Given the description of an element on the screen output the (x, y) to click on. 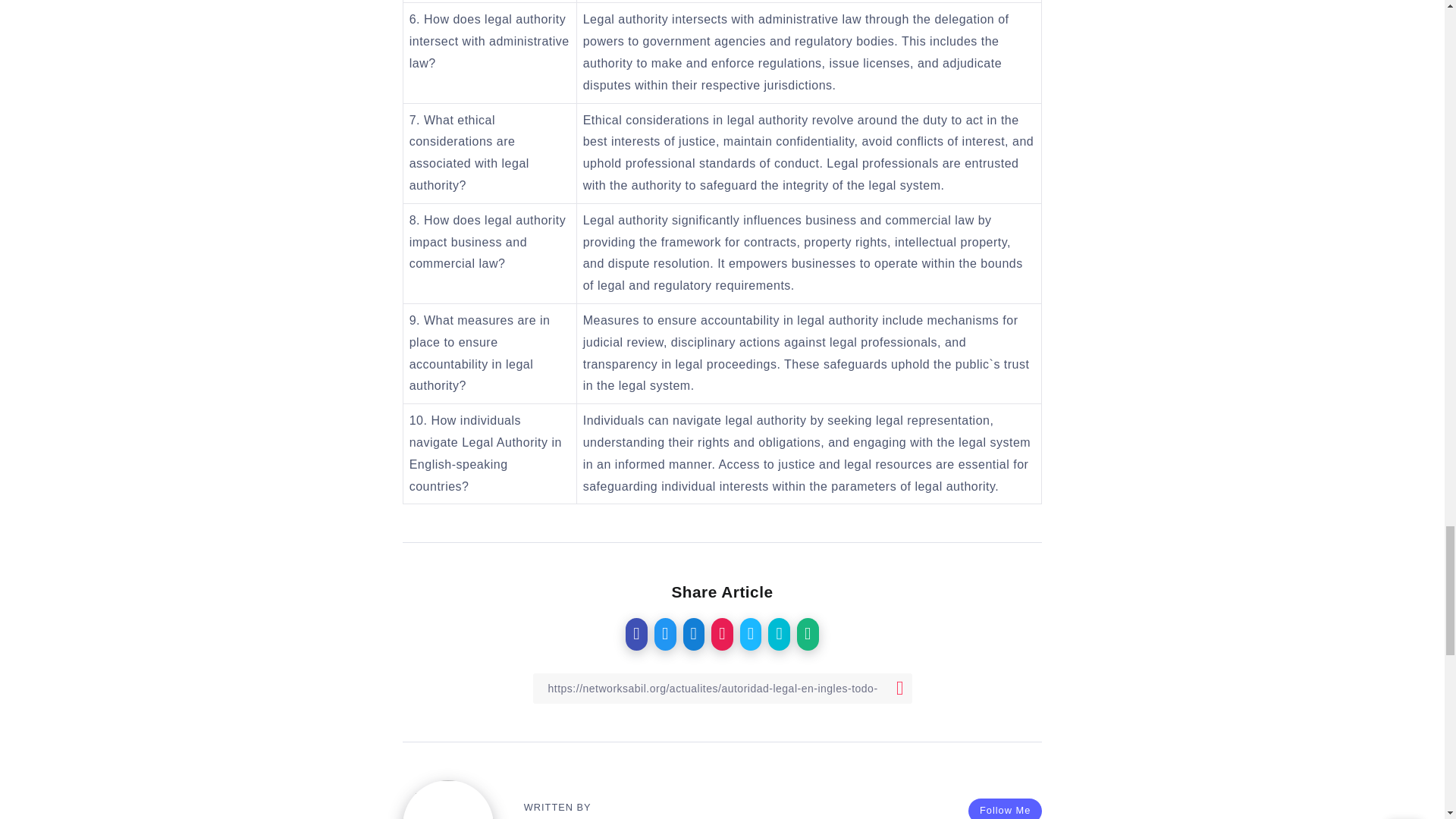
Follow Me (1005, 808)
